Given the description of an element on the screen output the (x, y) to click on. 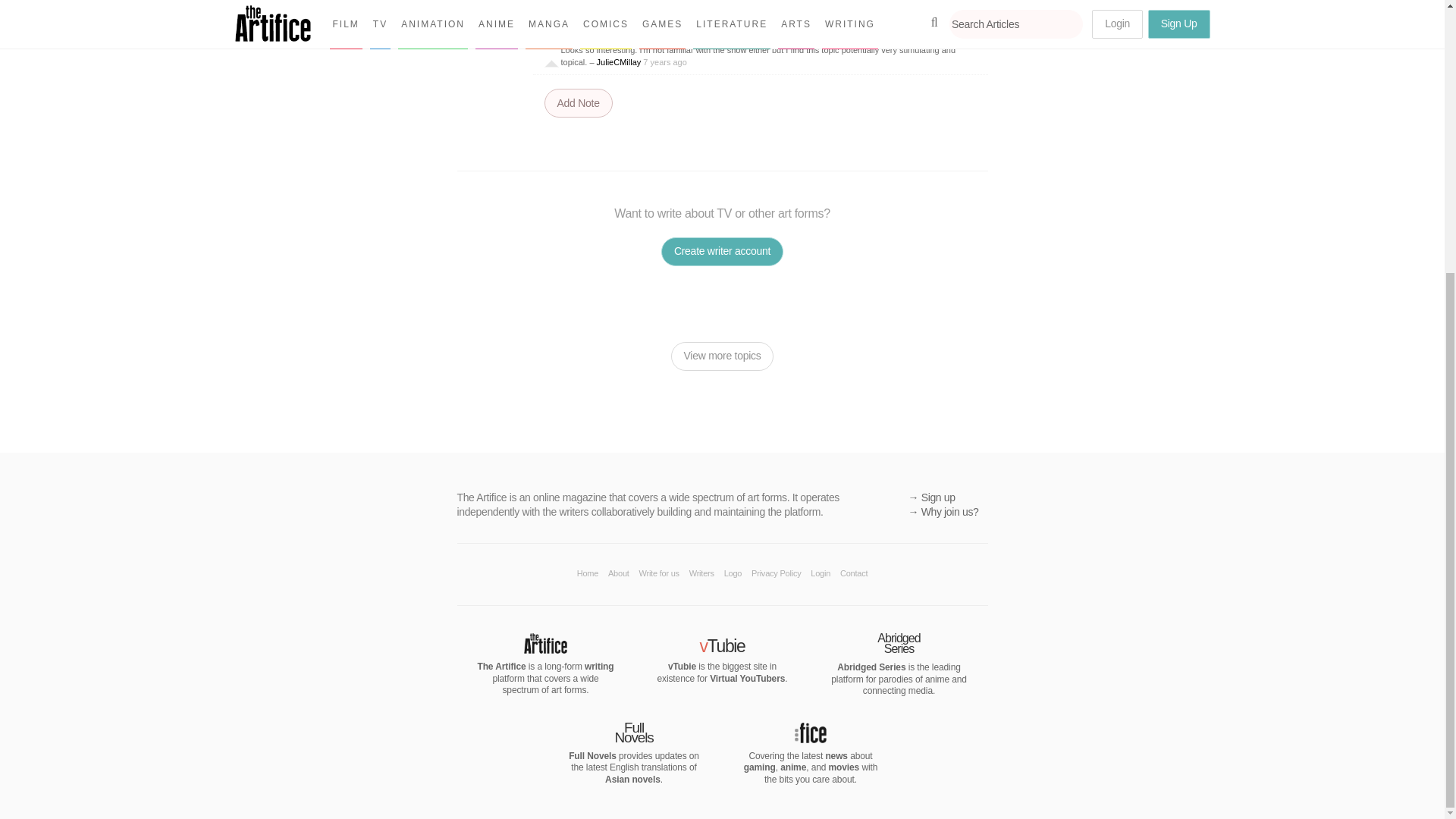
Stephanie M. (886, 20)
The Artifice (599, 665)
The Artifice (545, 648)
The Artifice (501, 665)
